Given the description of an element on the screen output the (x, y) to click on. 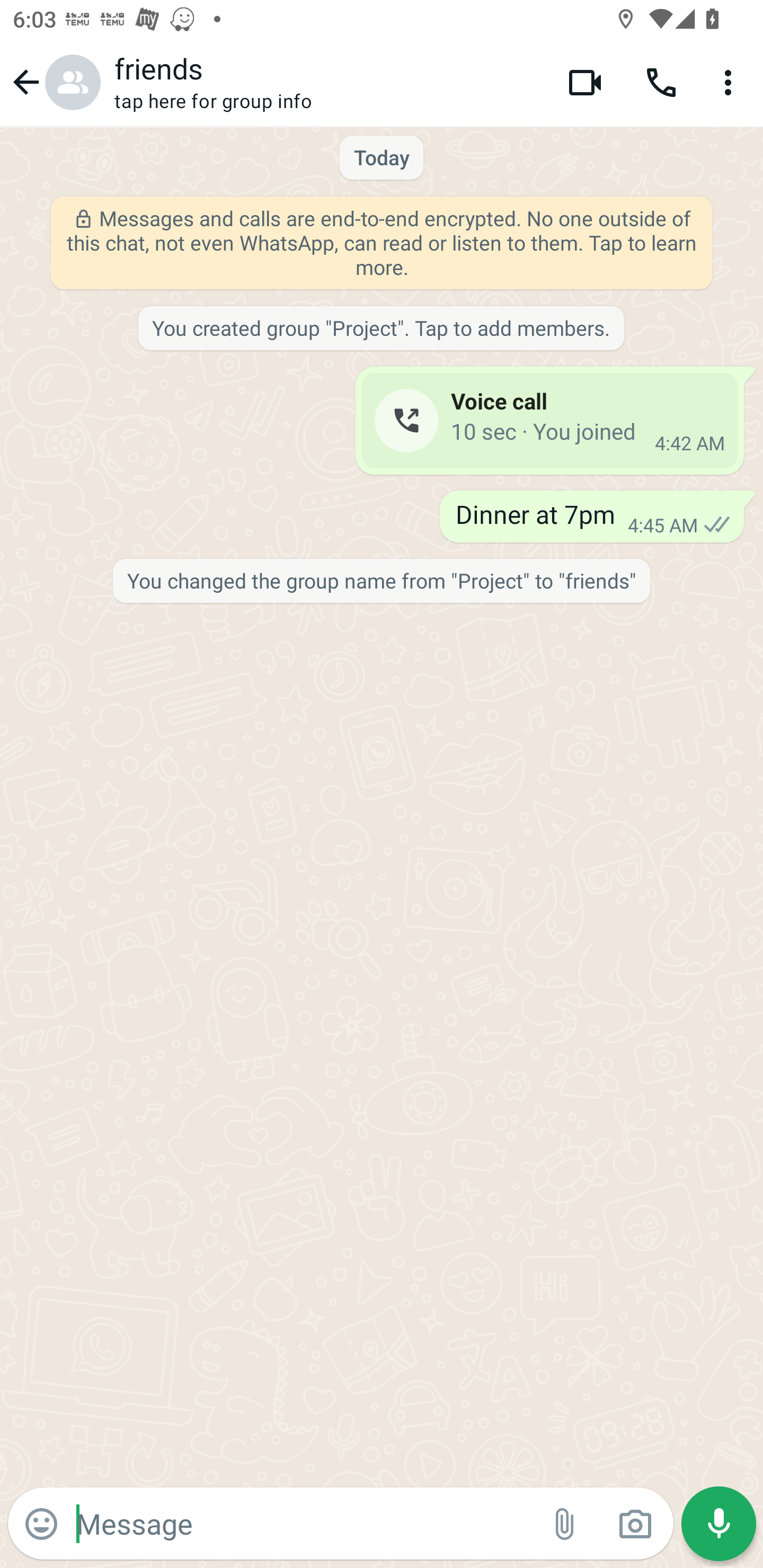
friends tap here for group info (327, 82)
Navigate up (54, 82)
Video call (585, 81)
Voice call (661, 81)
More options (731, 81)
You created group "Project". Tap to add members. (381, 329)
Emoji (41, 1523)
Attach (565, 1523)
Camera (634, 1523)
Message (303, 1523)
